Given the description of an element on the screen output the (x, y) to click on. 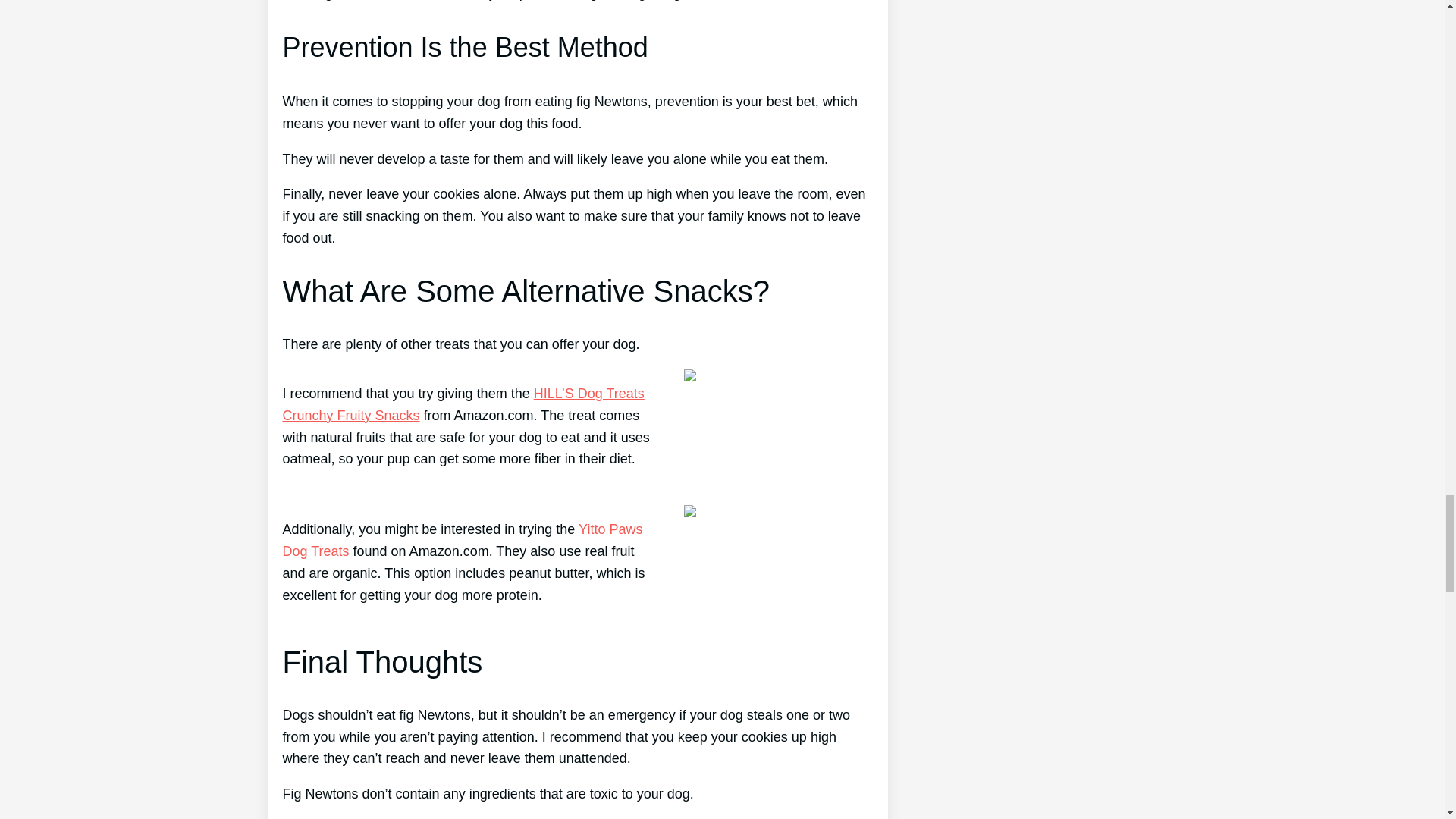
Yitto Paws Dog Treats (462, 539)
